Given the description of an element on the screen output the (x, y) to click on. 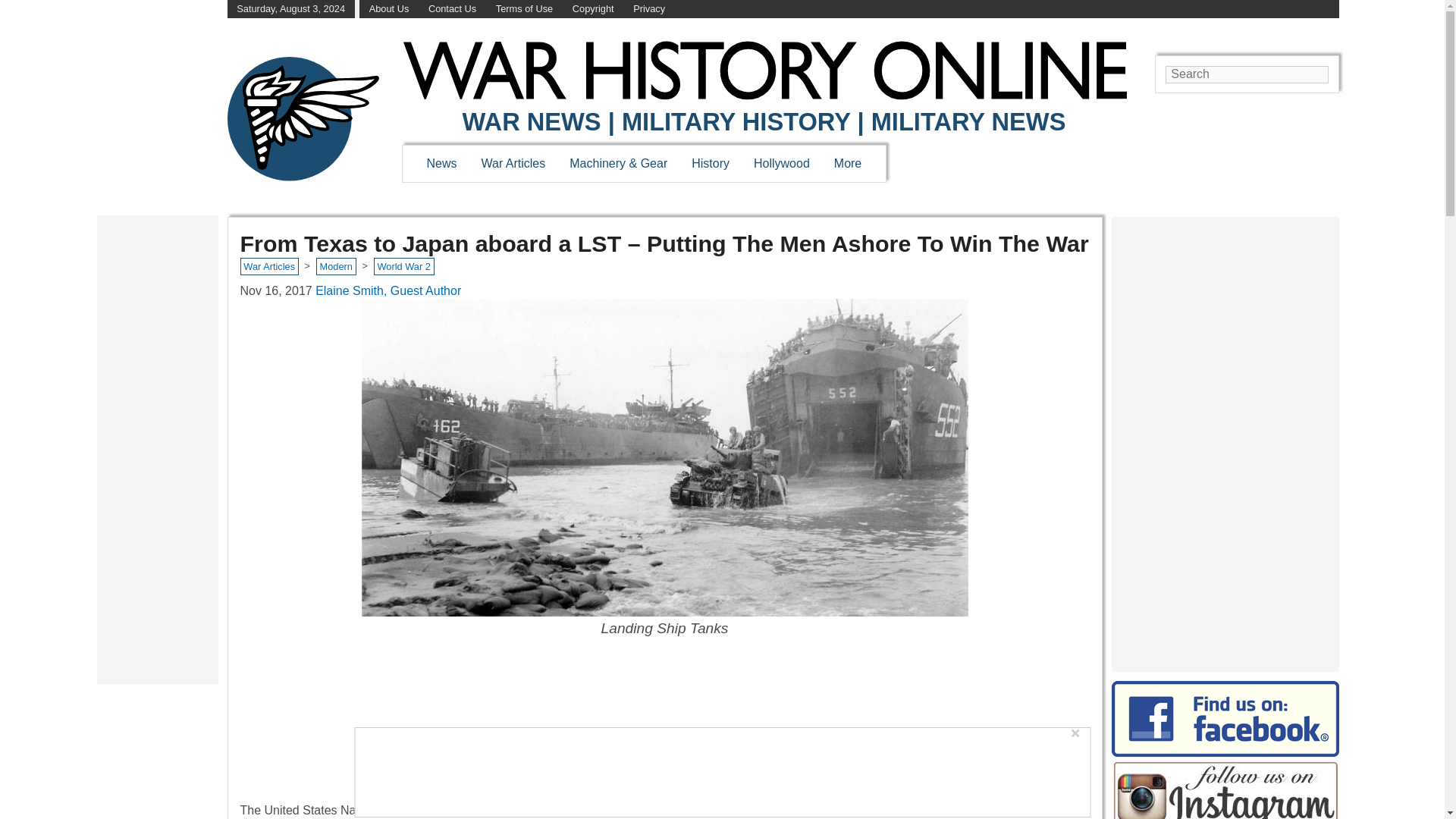
Privacy (649, 8)
More (847, 163)
Hollywood (781, 163)
History (710, 163)
War Articles (513, 163)
About Us (389, 8)
Contact Us (452, 8)
Copyright (593, 8)
News (441, 163)
Terms of Use (524, 8)
